Given the description of an element on the screen output the (x, y) to click on. 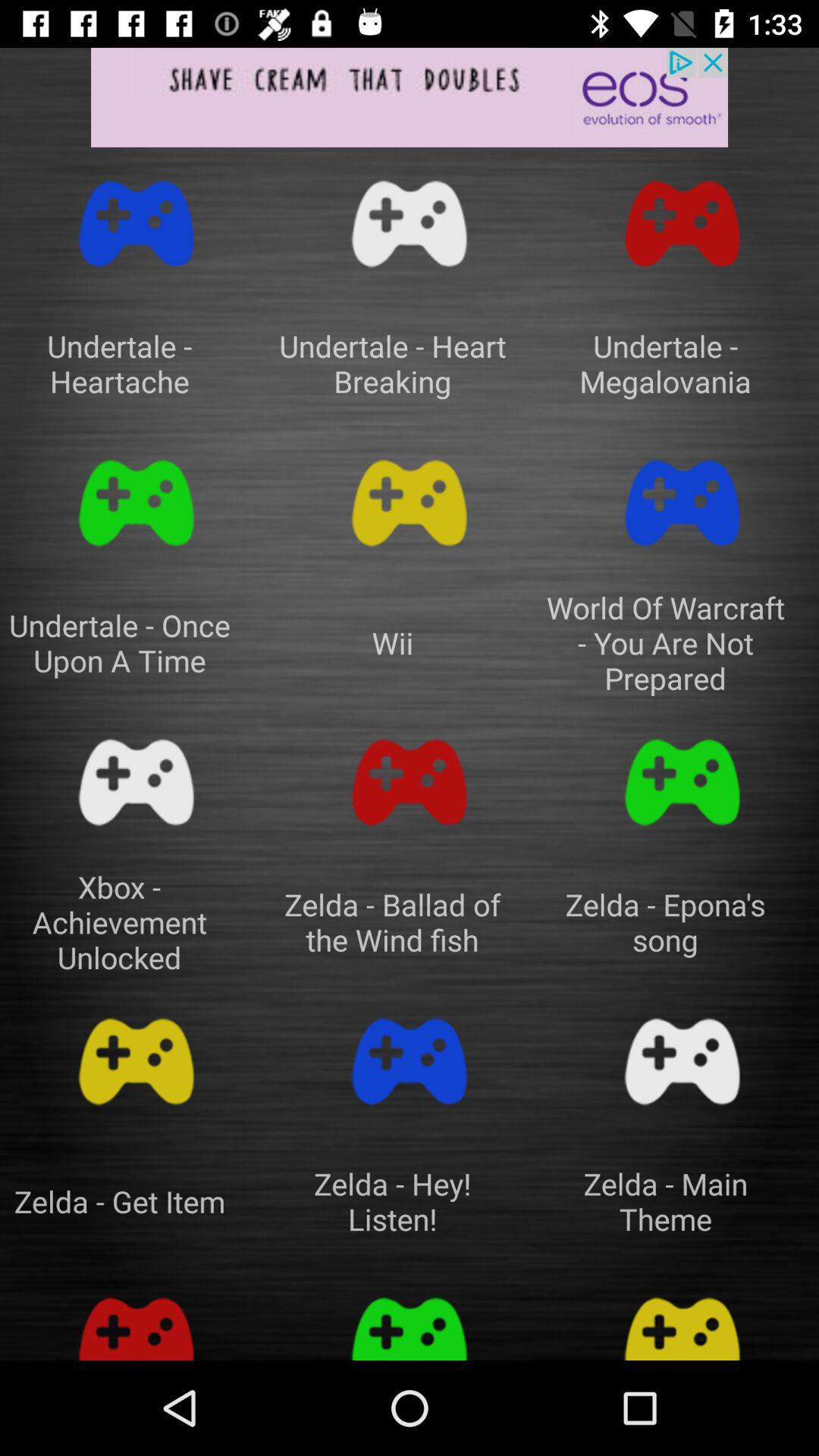
add banner (409, 97)
